Given the description of an element on the screen output the (x, y) to click on. 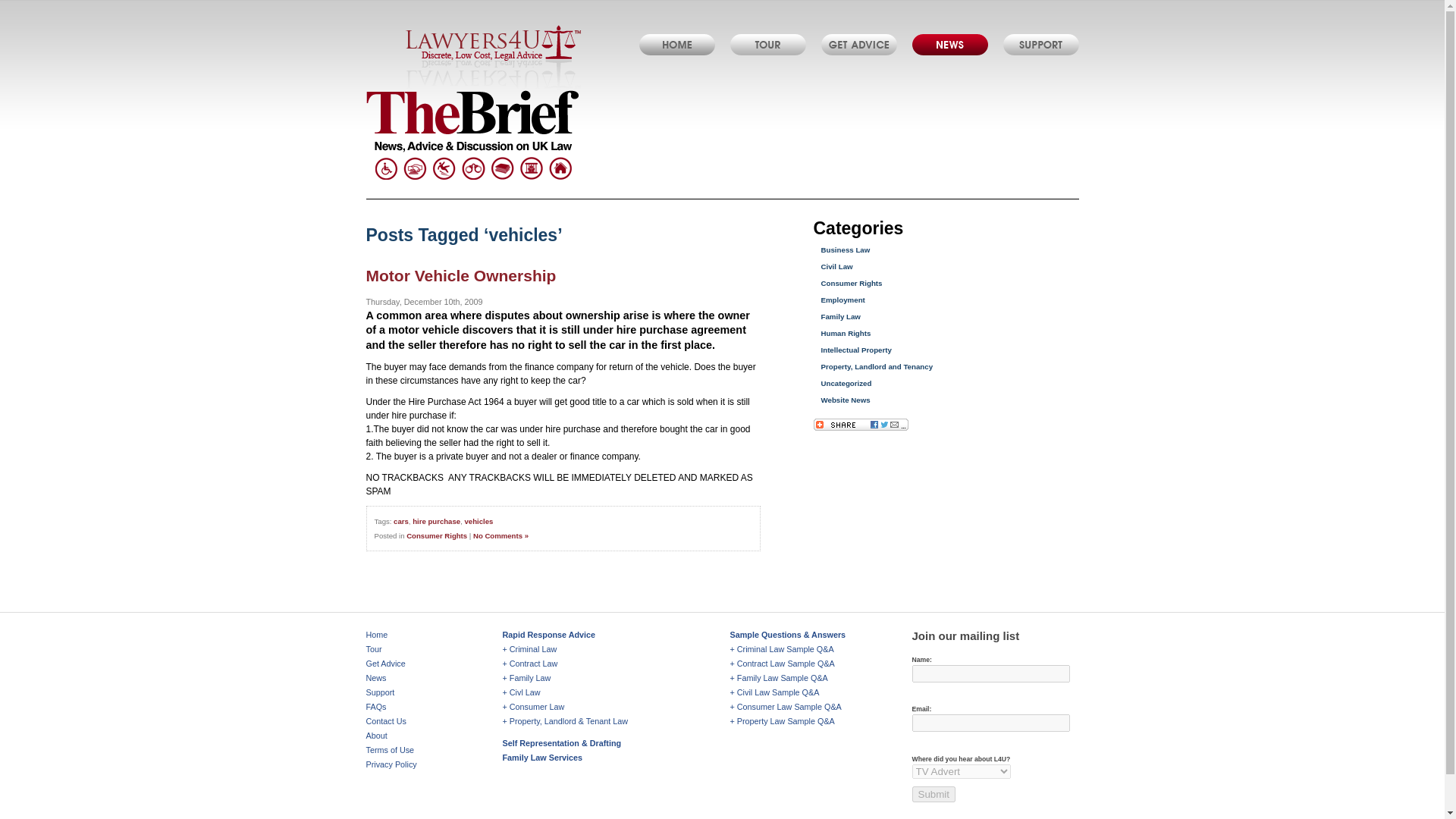
Uncategorized (845, 383)
Consumer Rights (436, 535)
Home (376, 634)
Civil Law (836, 266)
vehicles (478, 520)
Family Law (840, 316)
Intellectual Property (856, 349)
Tour (373, 648)
Get Advice (858, 44)
